Given the description of an element on the screen output the (x, y) to click on. 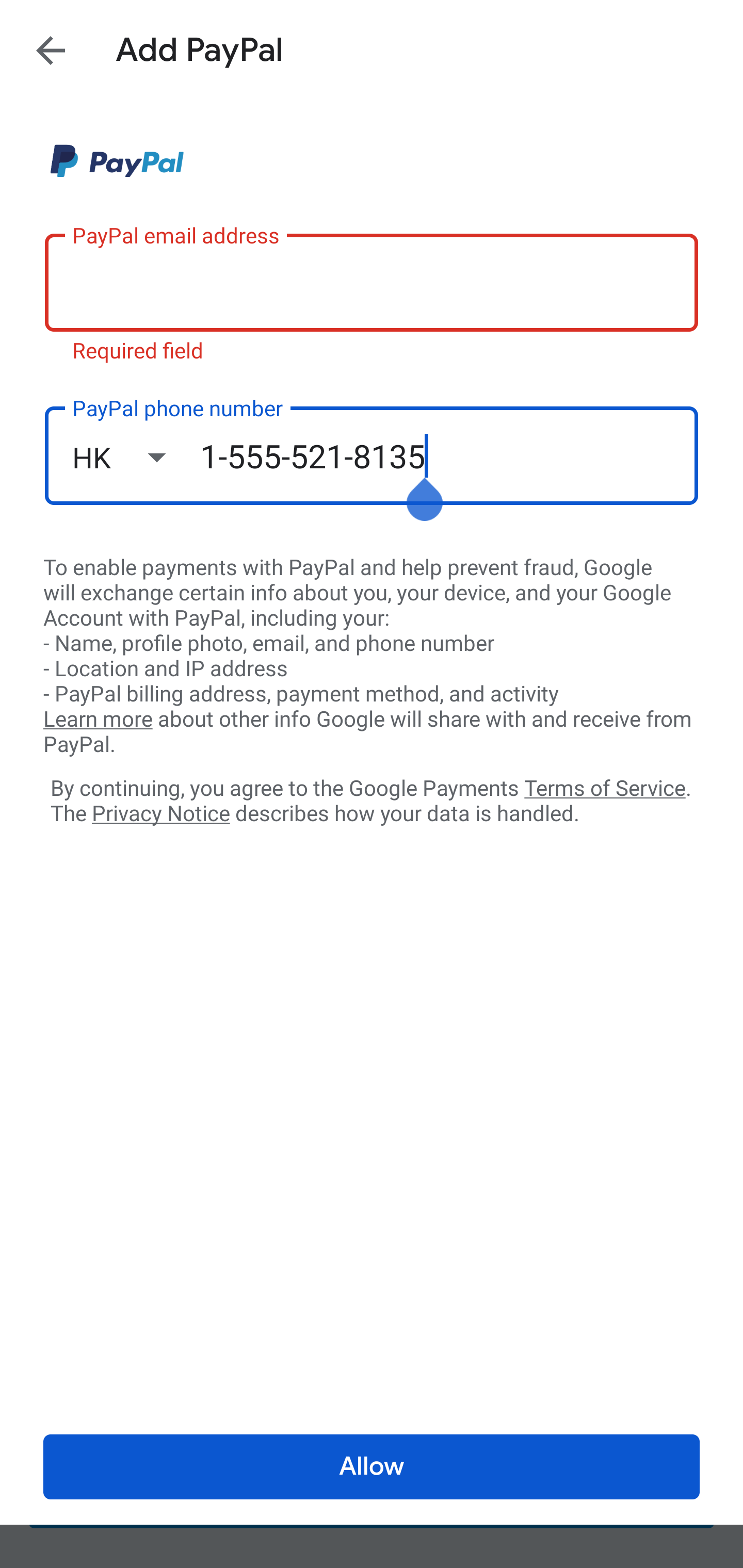
Navigate up (50, 50)
HK (135, 456)
Learn more (97, 719)
Terms of Service (604, 787)
Privacy Notice (160, 814)
Allow (371, 1466)
